Given the description of an element on the screen output the (x, y) to click on. 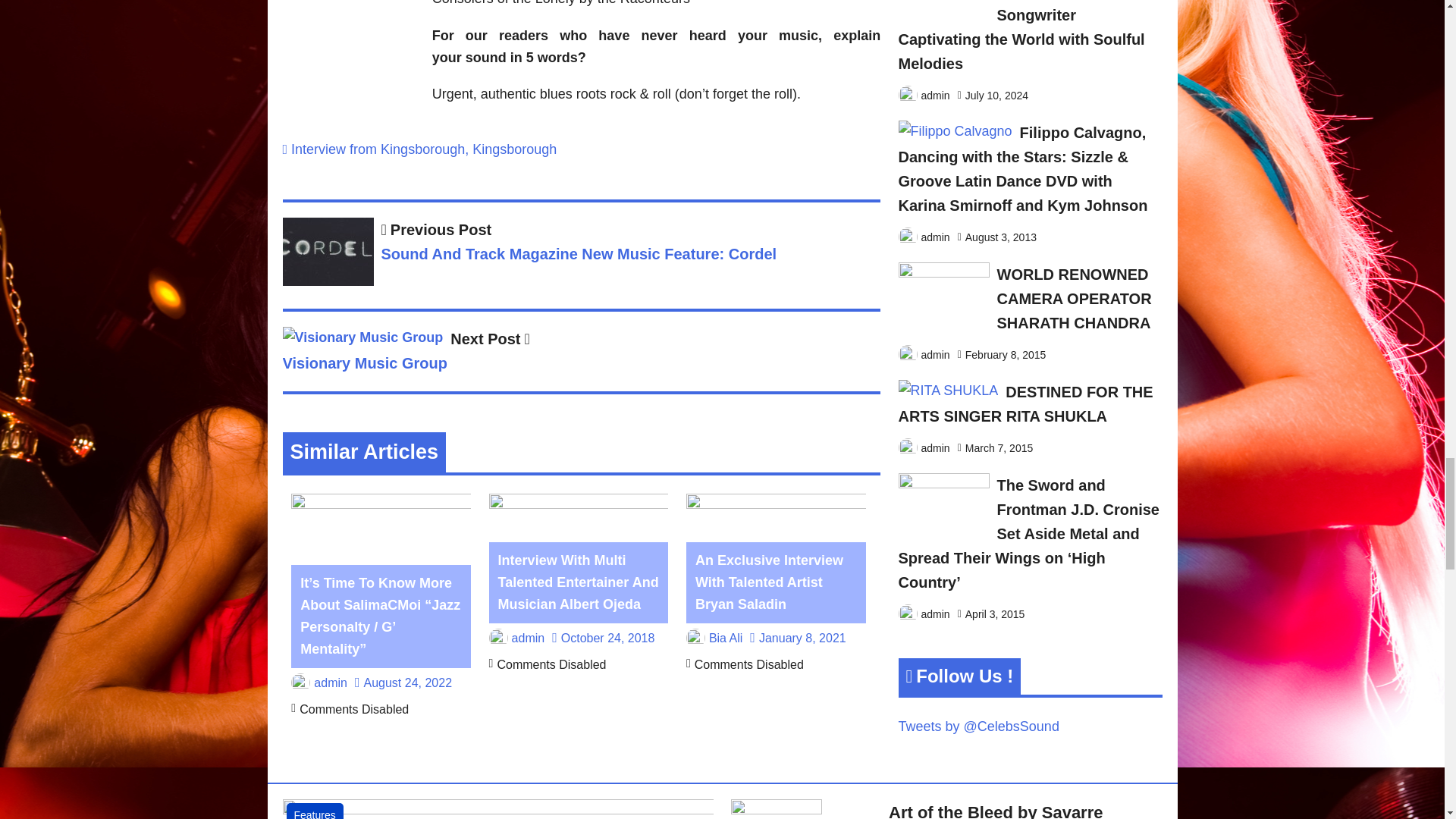
An Exclusive Interview With Talented Artist Bryan Saladin (769, 581)
An Exclusive Interview With Talented Artist Bryan Saladin (775, 503)
